Given the description of an element on the screen output the (x, y) to click on. 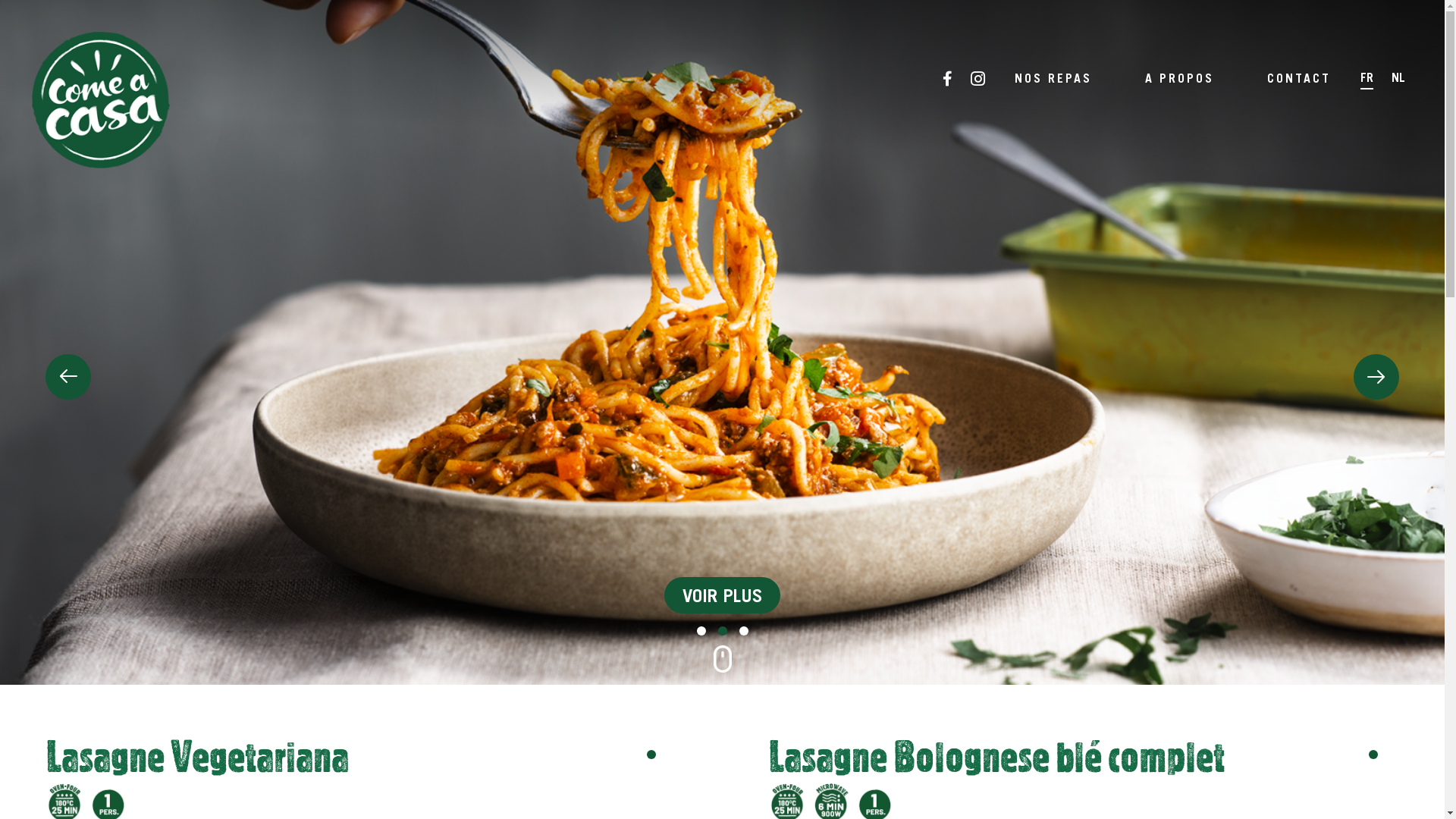
NL Element type: text (1398, 78)
VOIR PLUS Element type: text (722, 595)
CONTACT Element type: text (1298, 77)
NOS REPAS Element type: text (1053, 77)
FR Element type: text (1366, 78)
A PROPOS Element type: text (1179, 77)
